Given the description of an element on the screen output the (x, y) to click on. 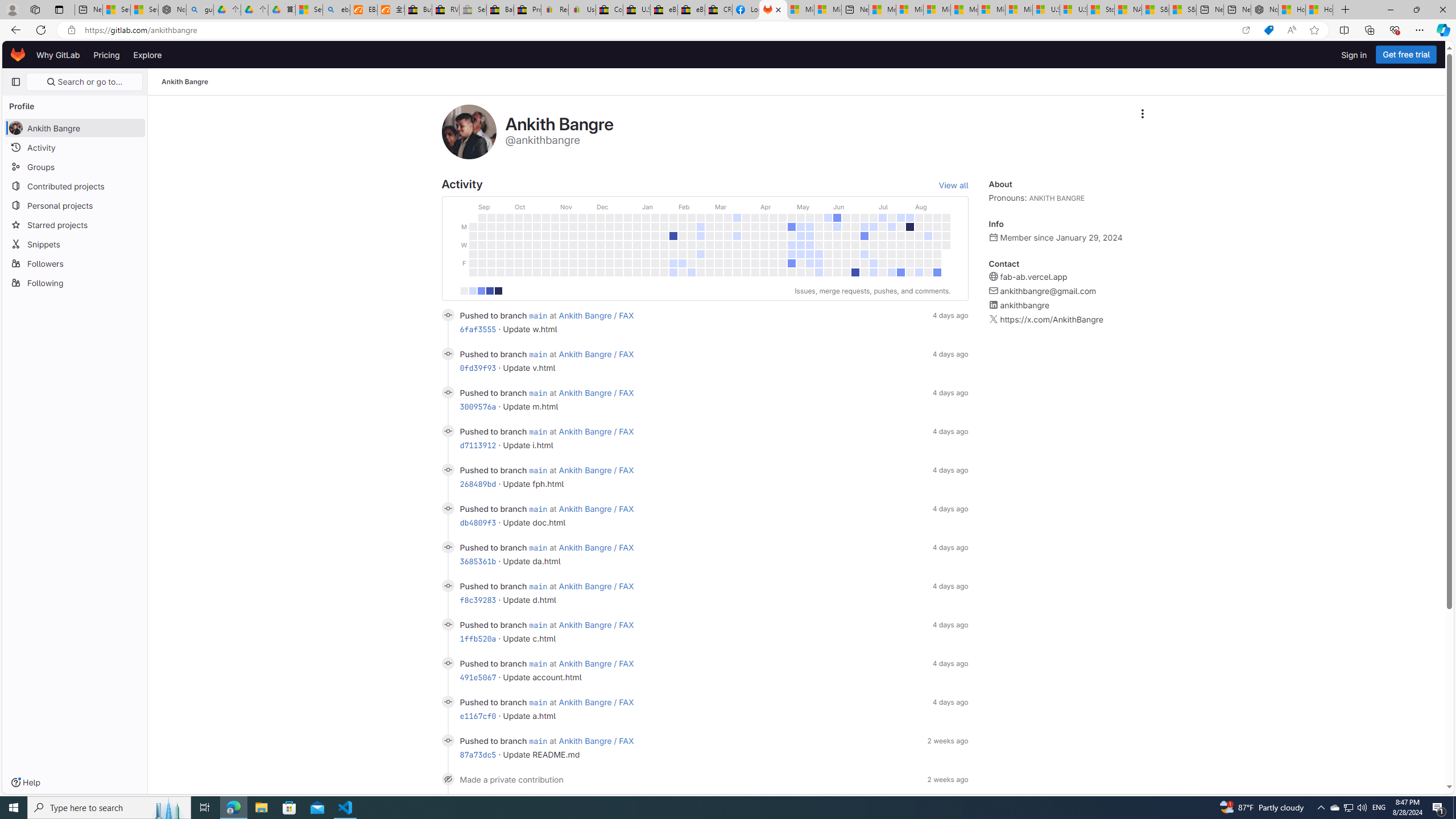
Open in app (1245, 29)
View all (953, 184)
